Given the description of an element on the screen output the (x, y) to click on. 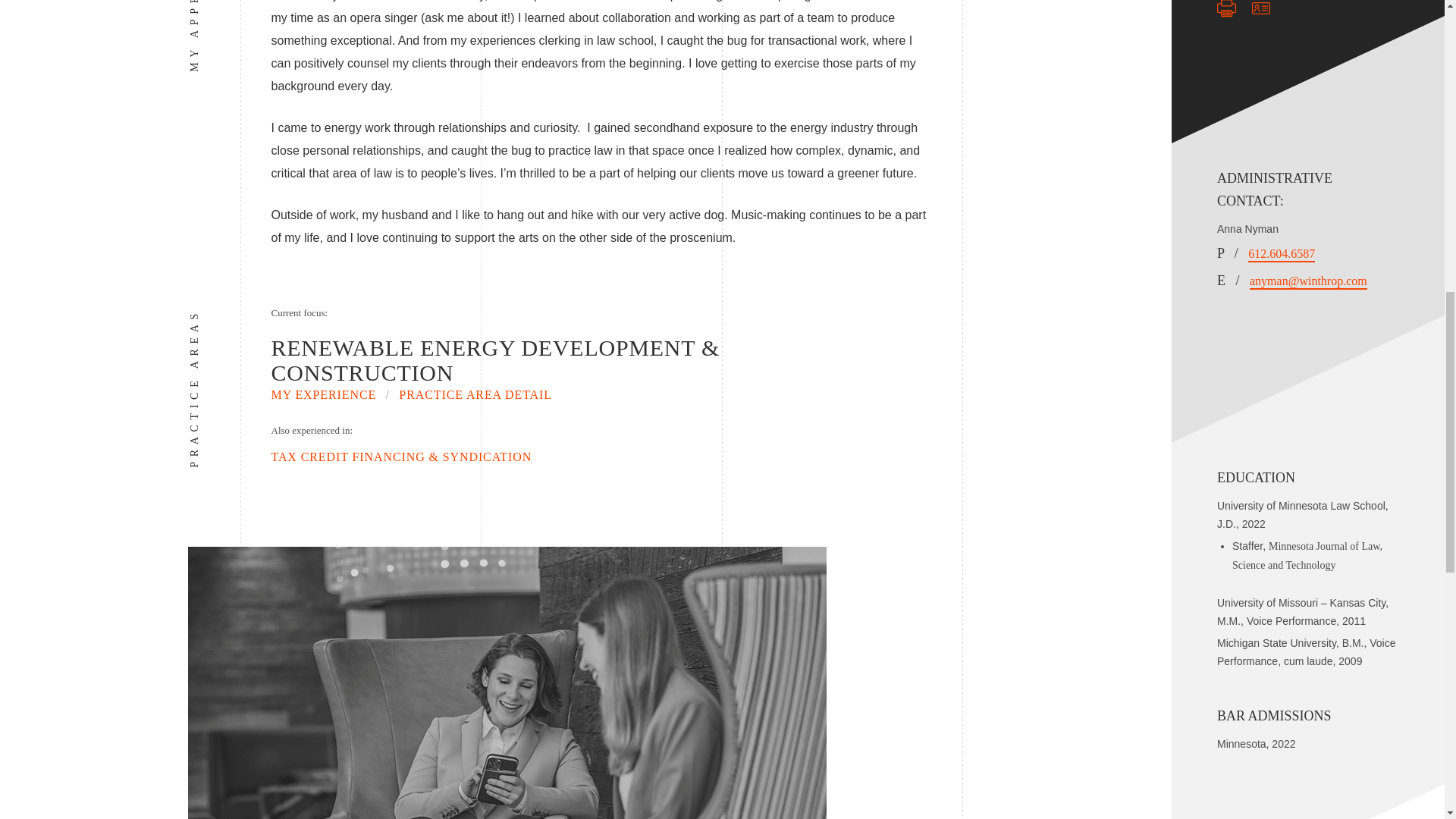
Print (1226, 9)
Contact Card (1260, 9)
PRACTICE AREA DETAIL (474, 394)
MY EXPERIENCE (323, 394)
612.604.6587 (1280, 253)
